Given the description of an element on the screen output the (x, y) to click on. 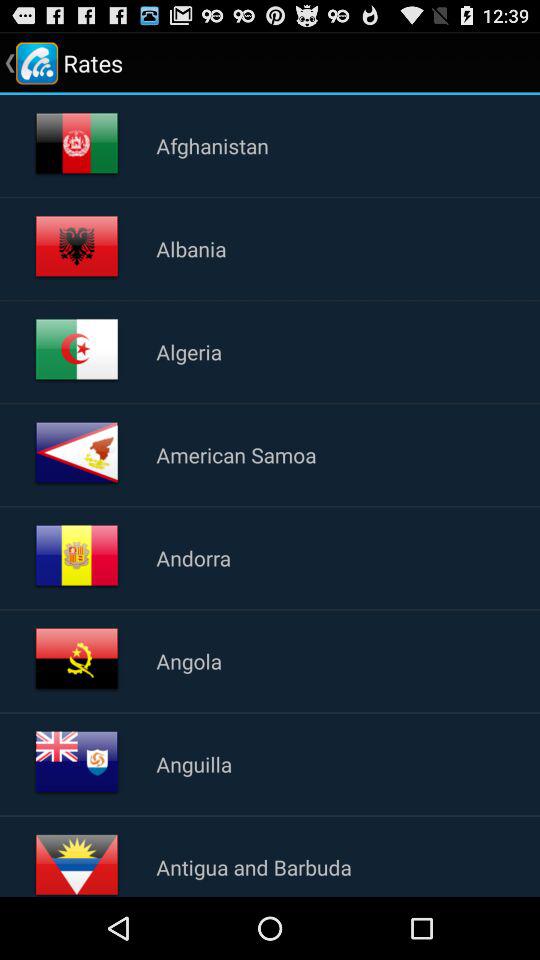
open item above algeria item (191, 248)
